Given the description of an element on the screen output the (x, y) to click on. 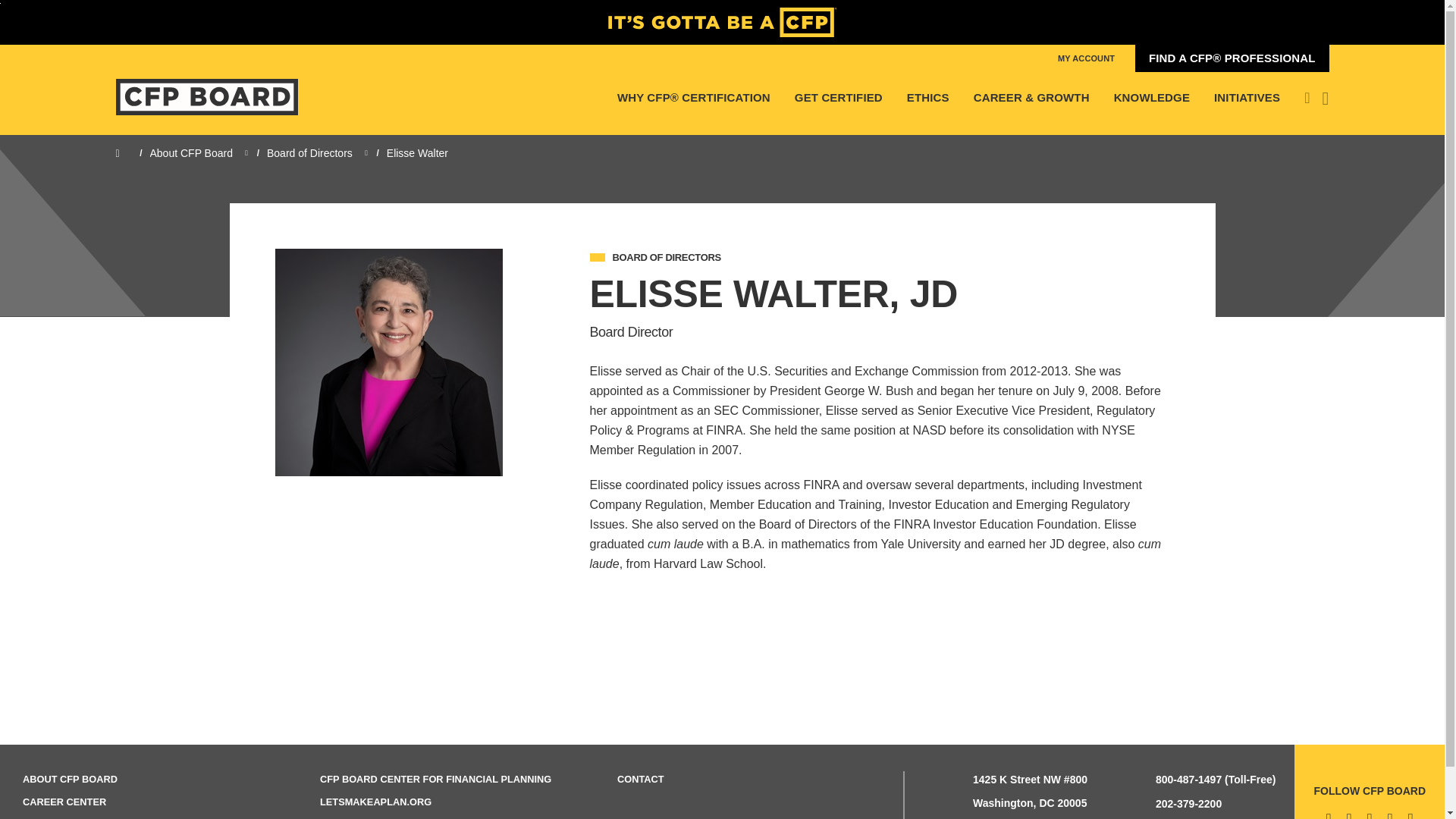
Elisse Walter (388, 361)
